Given the description of an element on the screen output the (x, y) to click on. 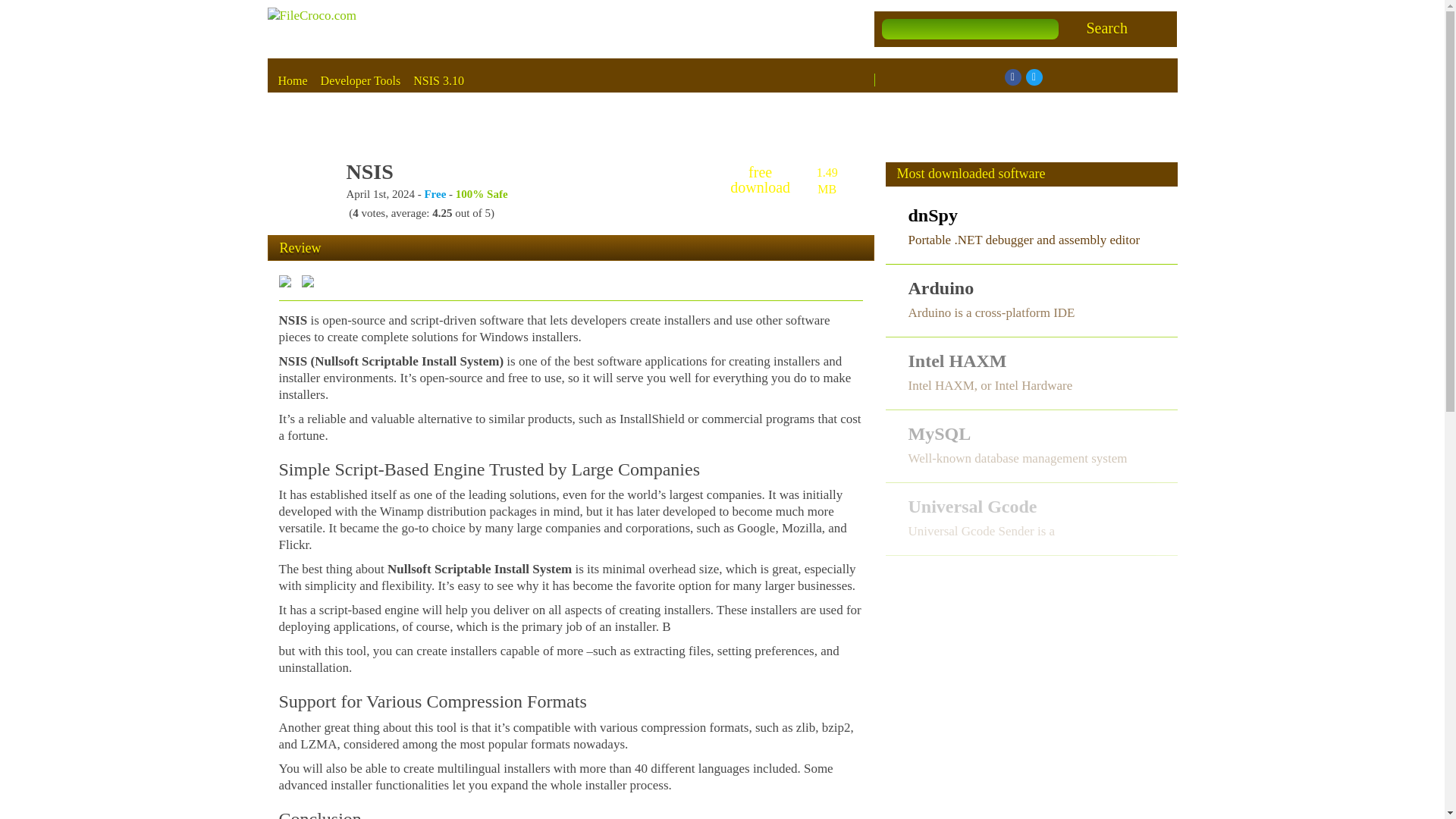
Developer Tools (360, 80)
NSIS (369, 171)
Search (1106, 27)
Home (292, 80)
